Given the description of an element on the screen output the (x, y) to click on. 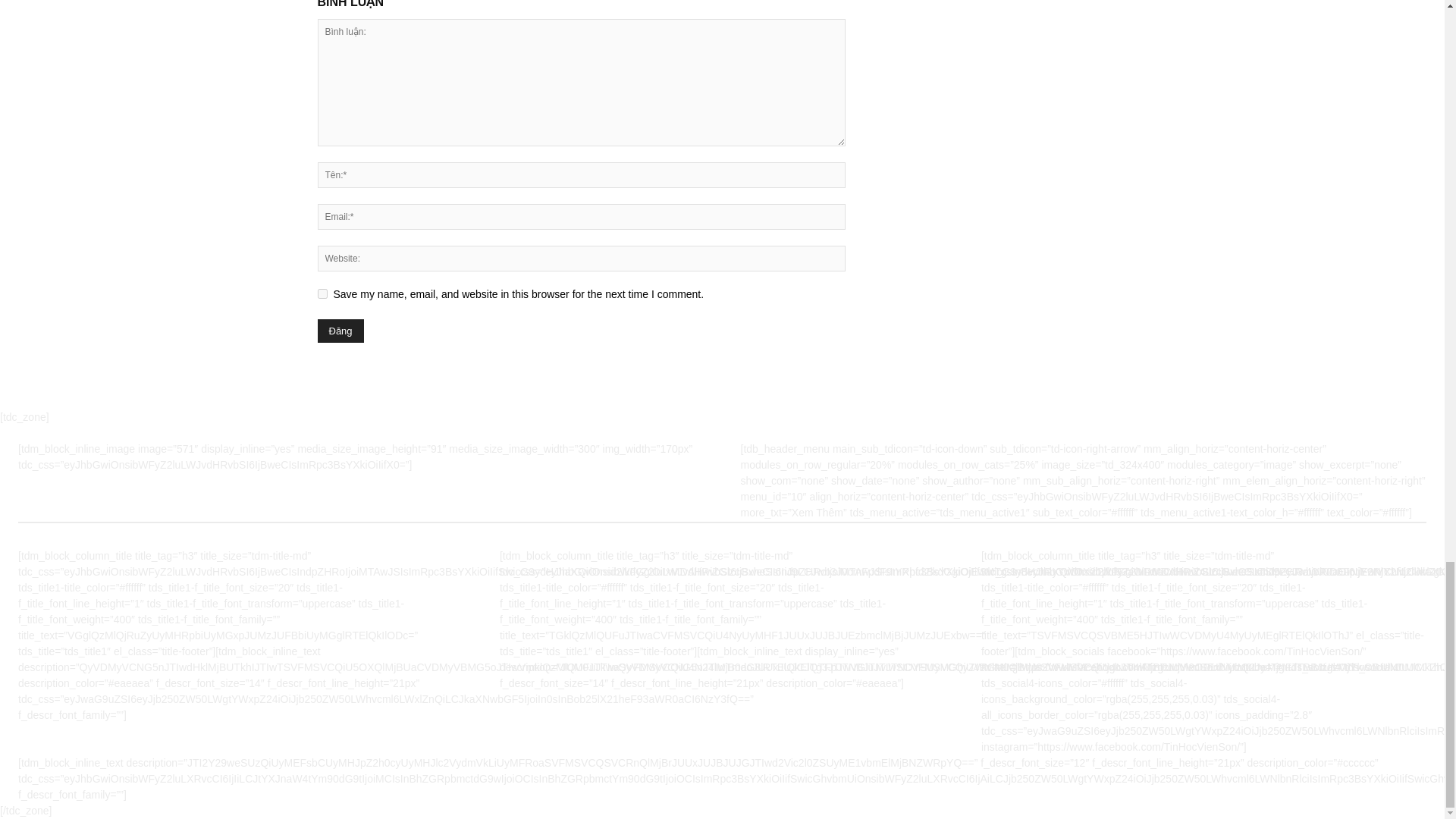
yes (321, 293)
